Given the description of an element on the screen output the (x, y) to click on. 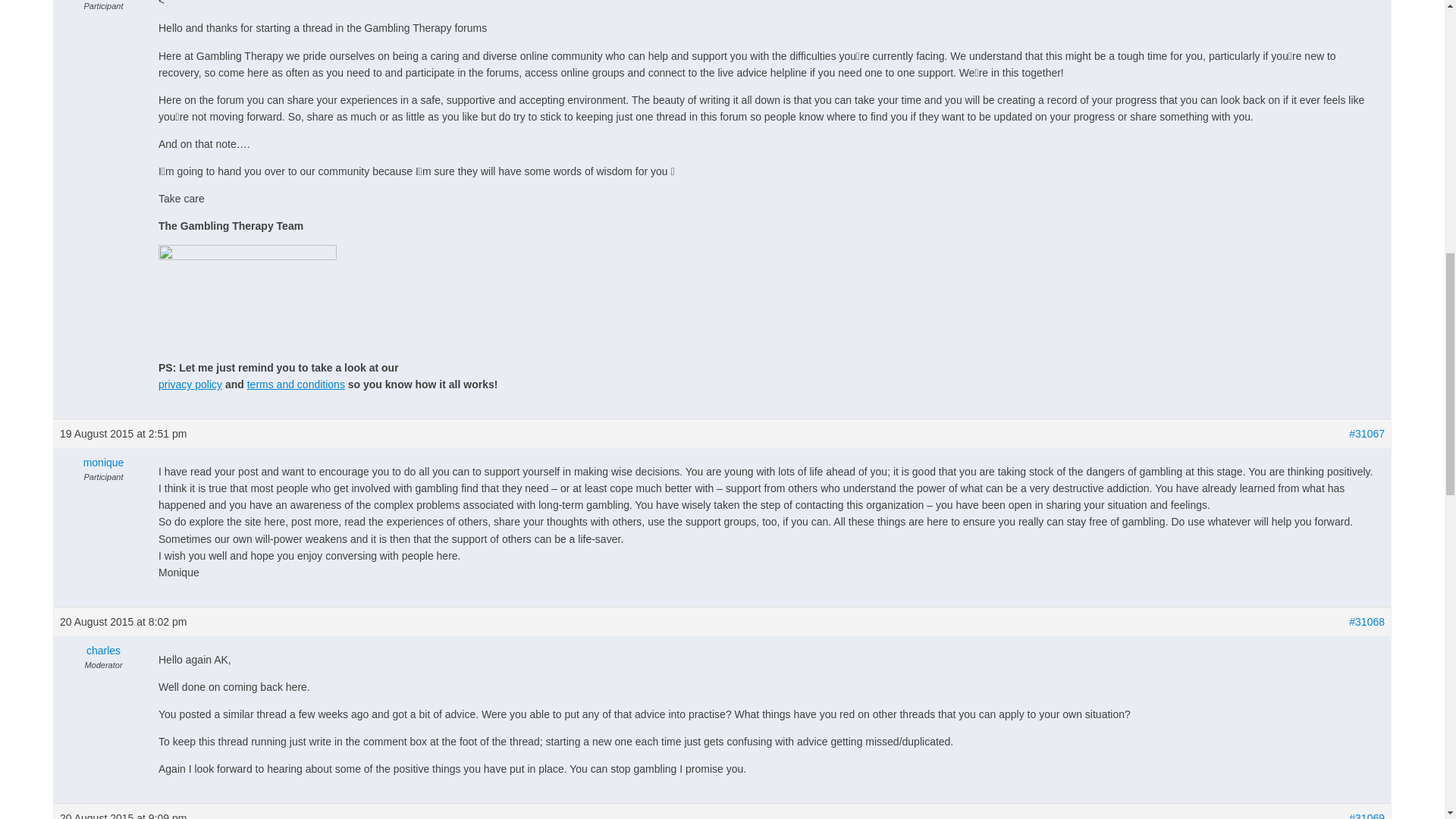
View monique's profile (103, 462)
View charles's profile (103, 650)
